Given the description of an element on the screen output the (x, y) to click on. 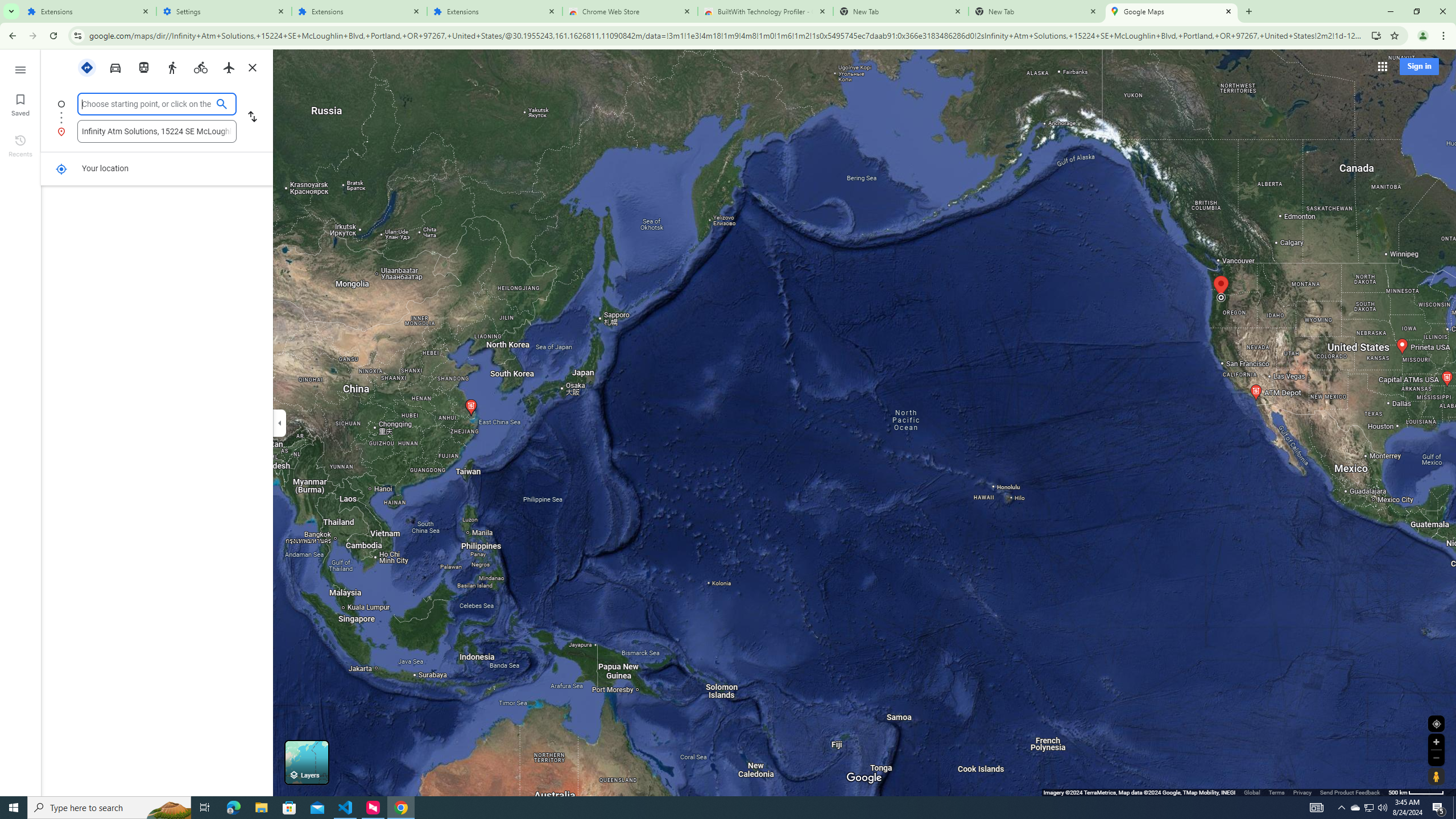
Driving (115, 67)
Back (10, 35)
